Given the description of an element on the screen output the (x, y) to click on. 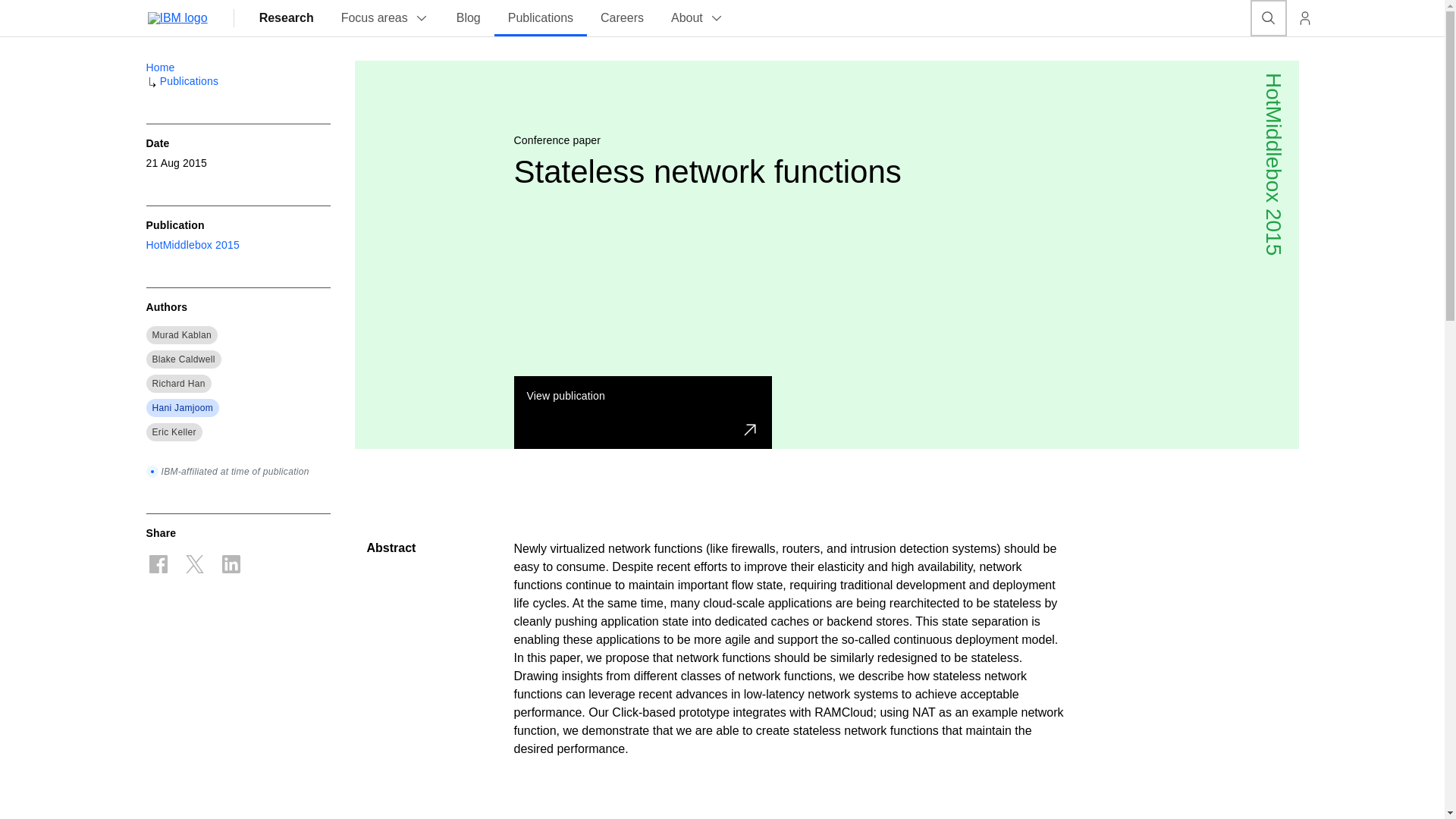
Richard Han (178, 383)
Blake Caldwell (182, 358)
Hani Jamjoom (181, 408)
Eric Keller (173, 431)
Murad Kablan (181, 335)
